Given the description of an element on the screen output the (x, y) to click on. 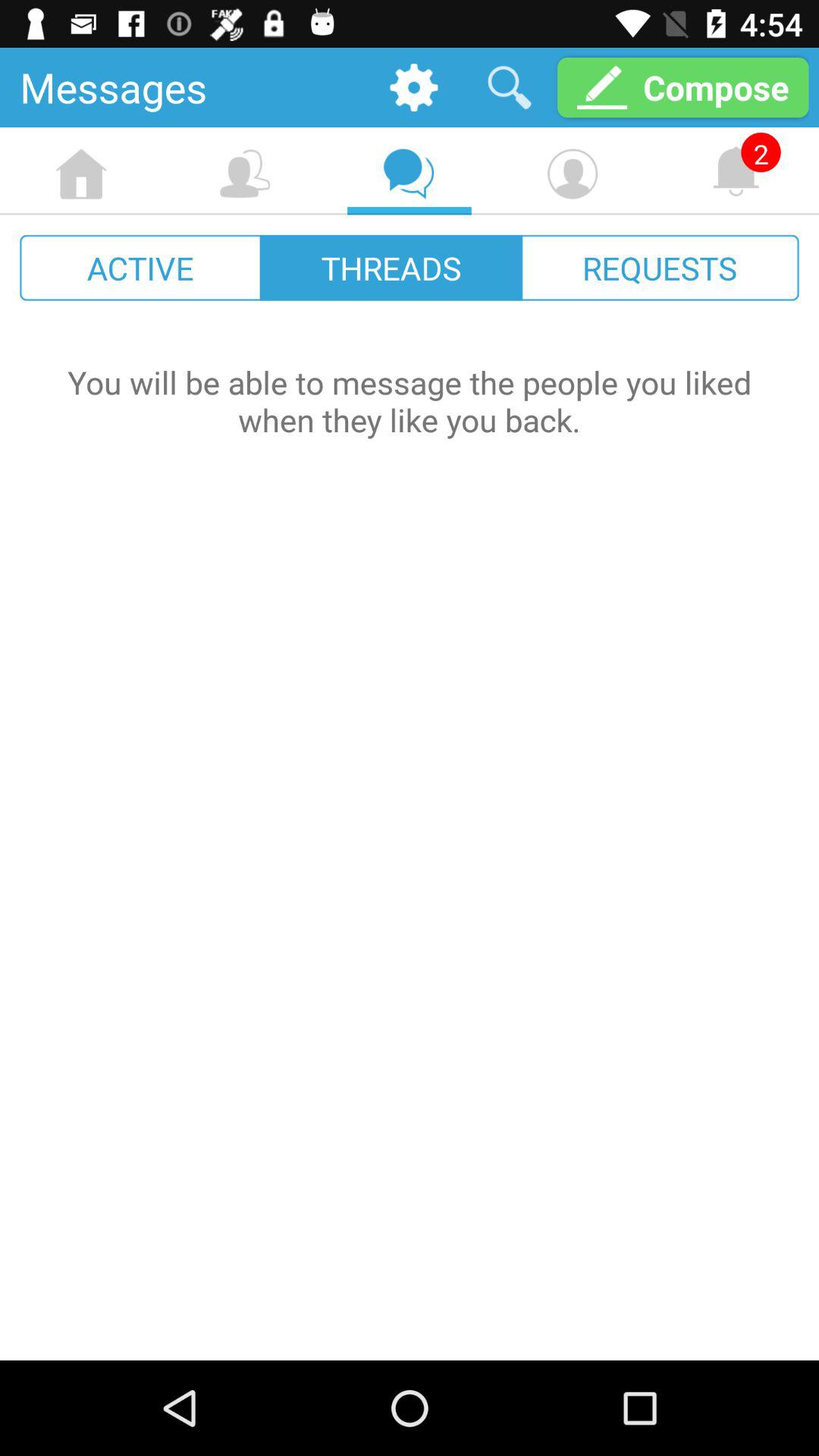
launch requests item (659, 267)
